Given the description of an element on the screen output the (x, y) to click on. 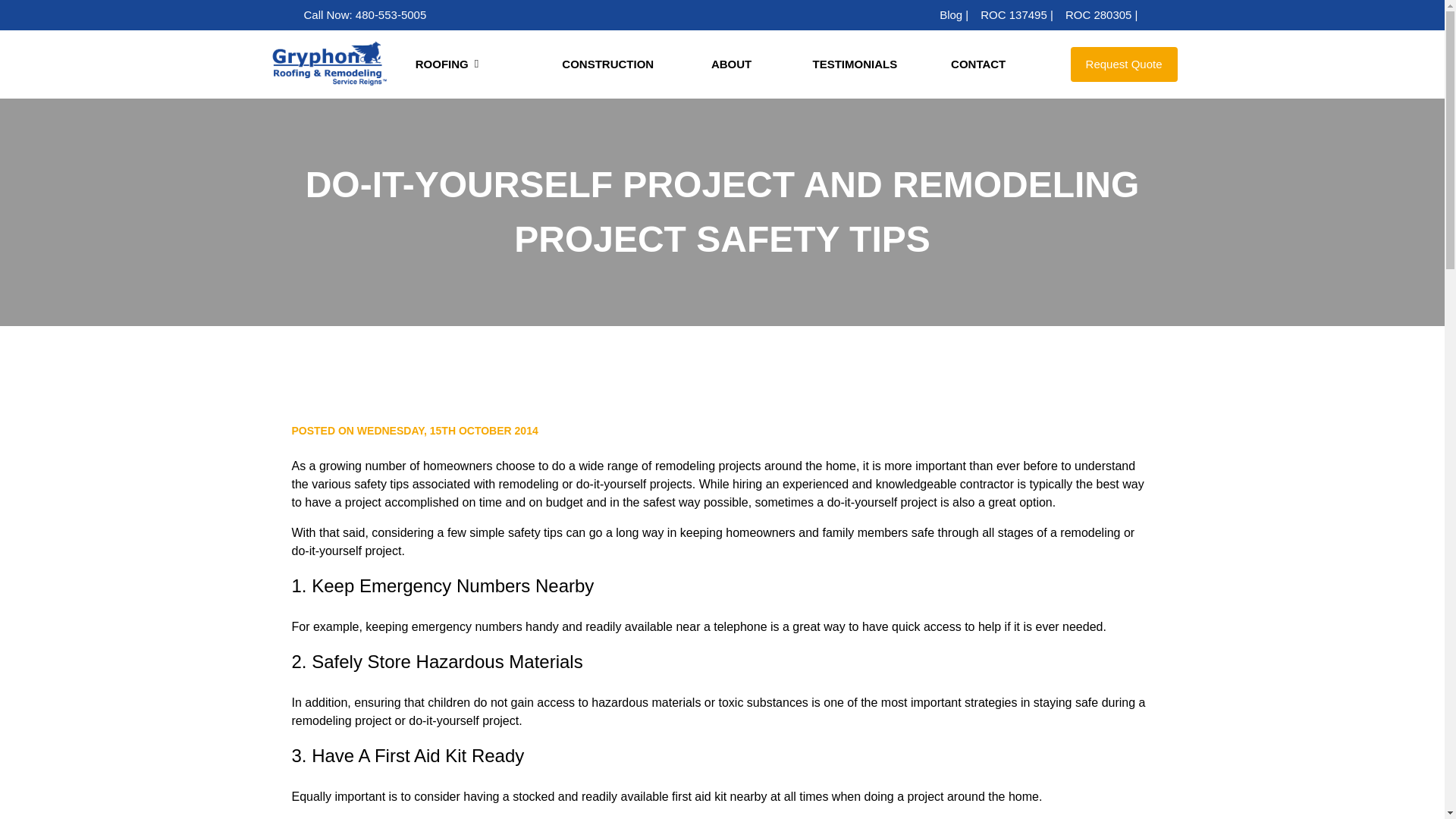
ROOFING (474, 64)
CONTACT (979, 64)
Request Quote (1123, 64)
TESTIMONIALS (855, 64)
Call Now: 480-553-5005 (364, 14)
ABOUT (731, 64)
CONSTRUCTION (607, 64)
